Given the description of an element on the screen output the (x, y) to click on. 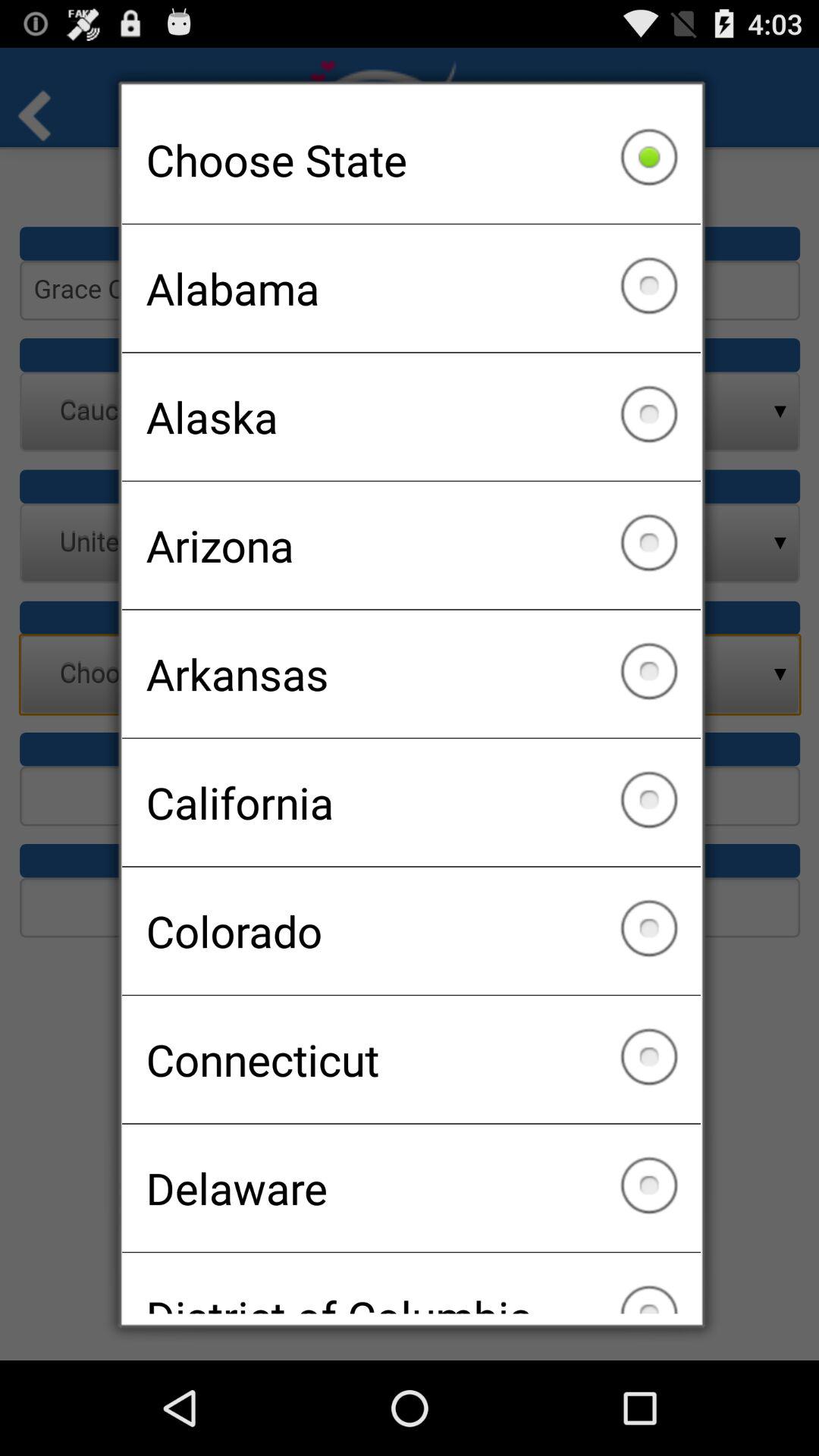
launch the icon above the district of columbia item (411, 1187)
